Given the description of an element on the screen output the (x, y) to click on. 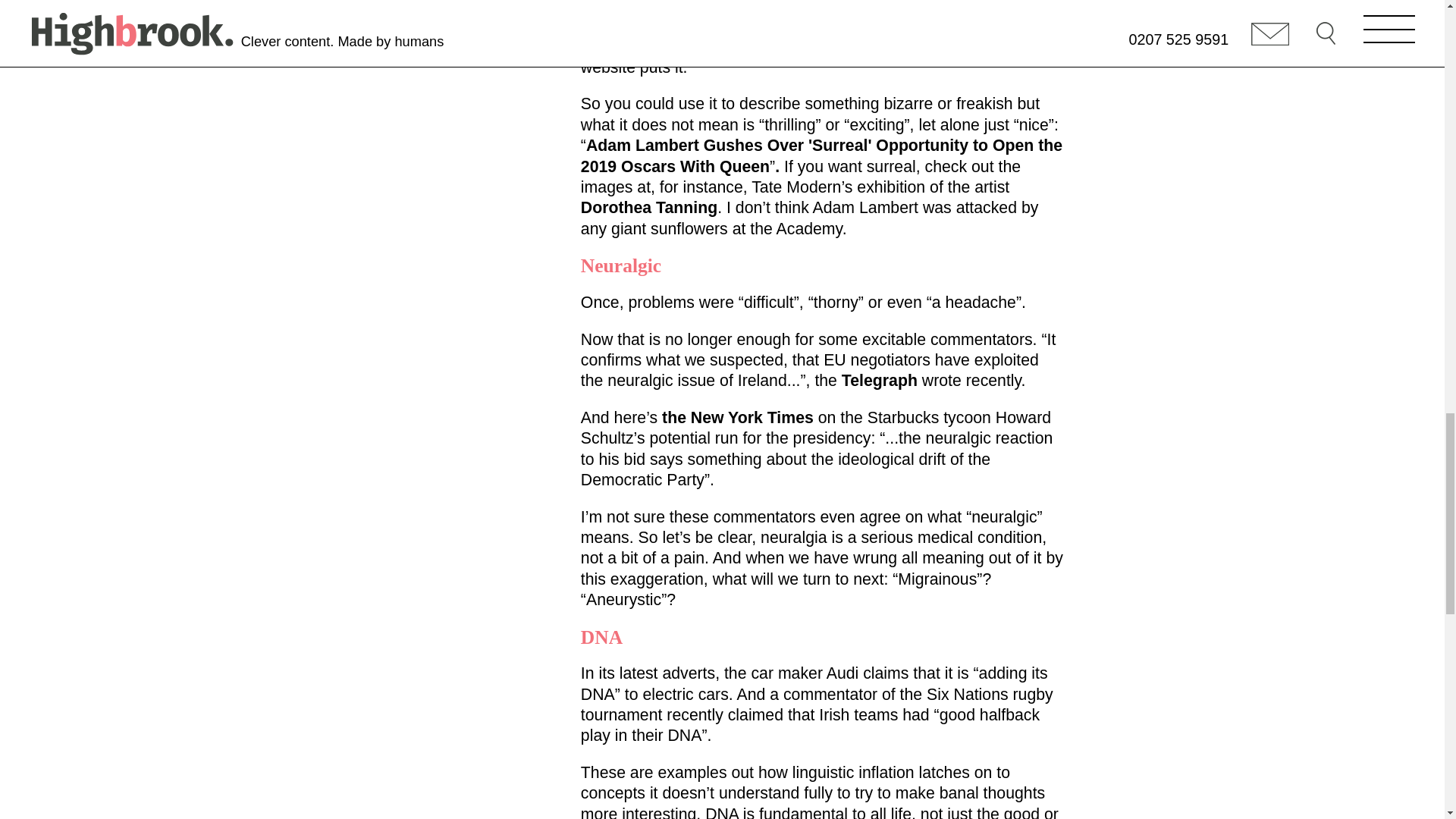
Dorothea Tanning (648, 208)
the New York Times (737, 417)
Telegraph (879, 380)
